Given the description of an element on the screen output the (x, y) to click on. 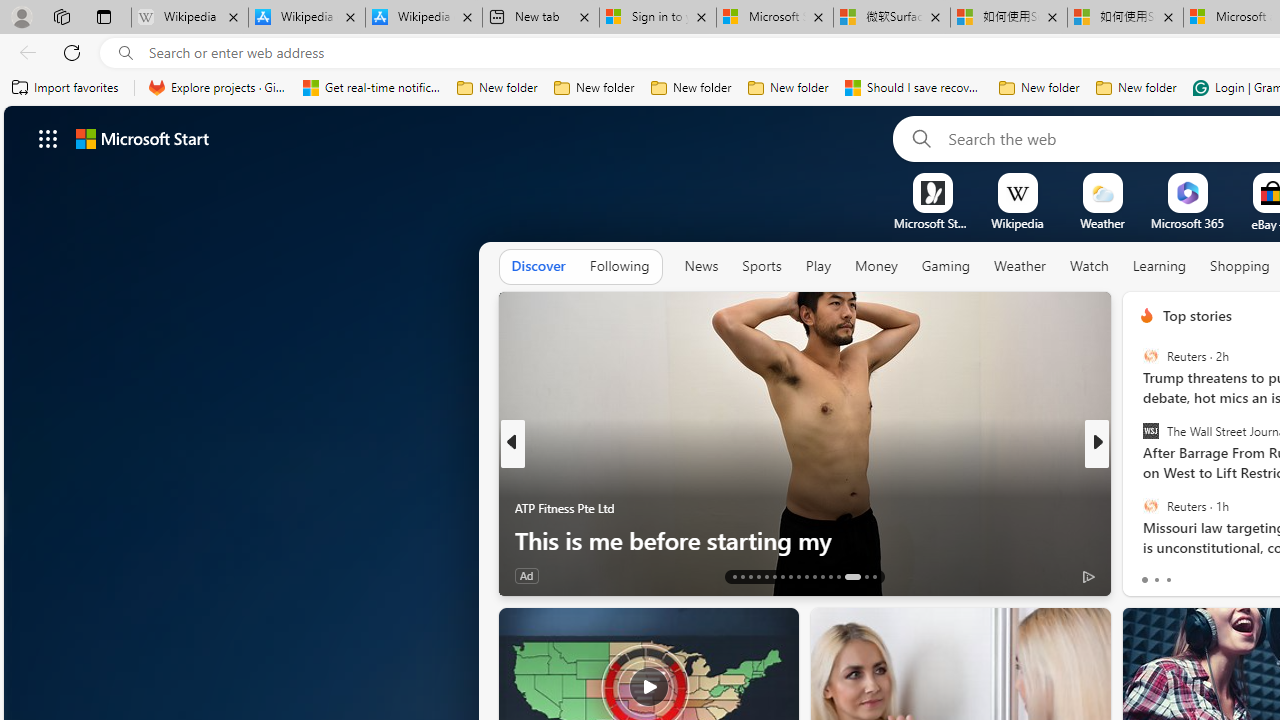
Ad Choice (1087, 575)
App launcher (47, 138)
tab-1 (1156, 579)
AutomationID: tab-28 (865, 576)
AutomationID: tab-21 (797, 576)
AutomationID: tab-22 (806, 576)
Start the conversation (1222, 575)
New folder (1136, 88)
Search icon (125, 53)
Learning (1159, 267)
1 Like (1145, 574)
